Given the description of an element on the screen output the (x, y) to click on. 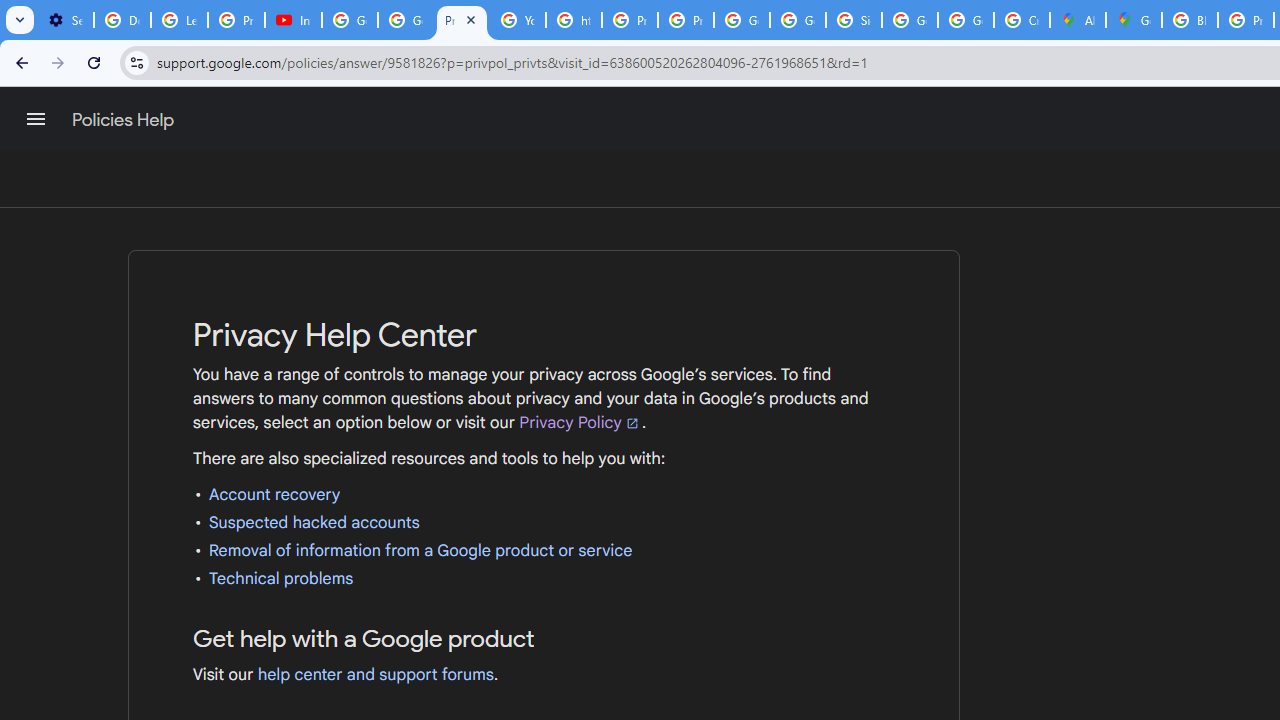
Learn how to find your photos - Google Photos Help (179, 20)
Main menu (35, 119)
Technical problems (281, 578)
Policies Help (124, 119)
Google Account Help (405, 20)
Sign in - Google Accounts (853, 20)
Google Account Help (349, 20)
Settings - Customize profile (65, 20)
